Given the description of an element on the screen output the (x, y) to click on. 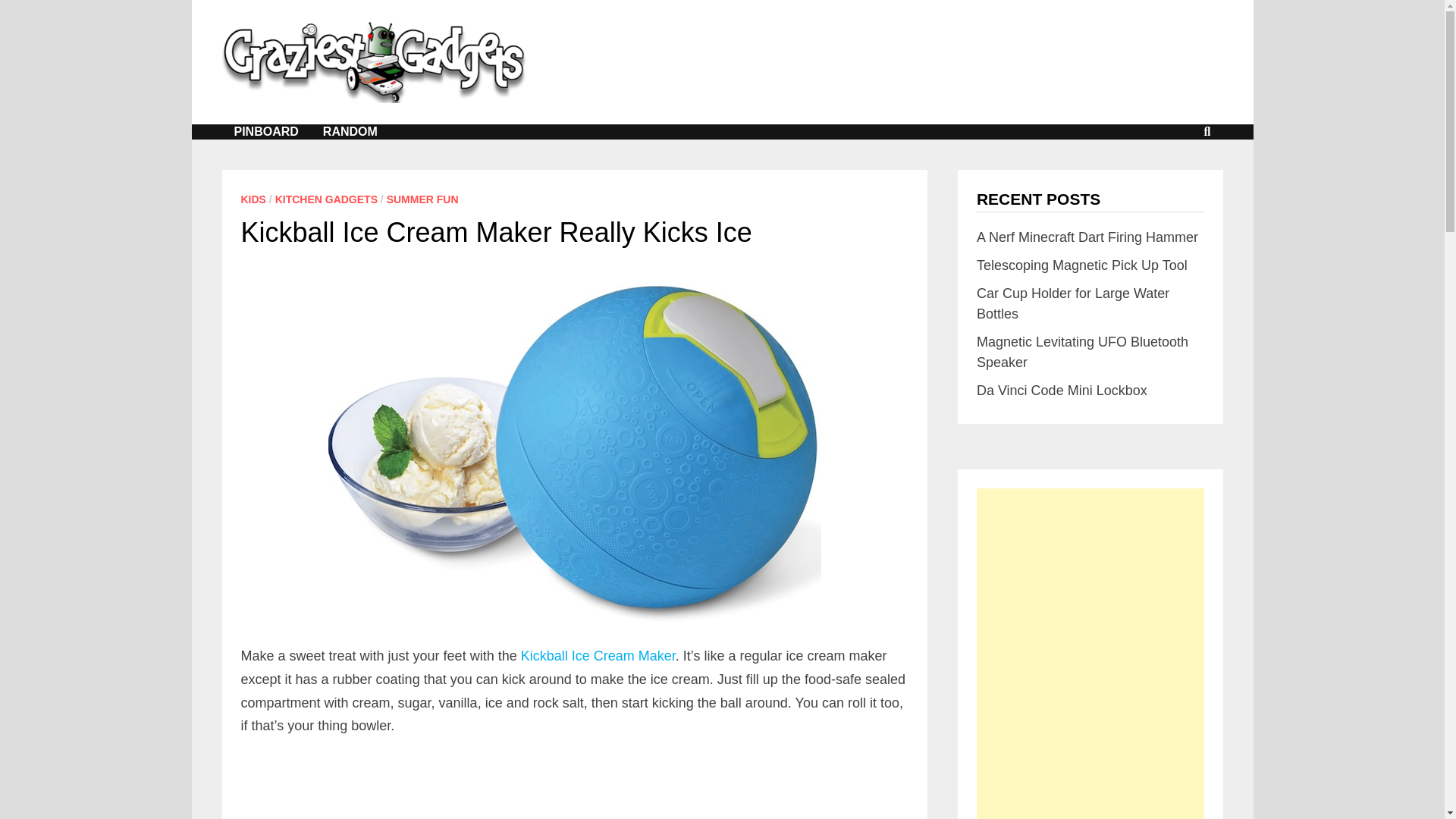
PINBOARD (265, 131)
KIDS (253, 199)
RANDOM (350, 131)
Kickball Ice Cream Maker (598, 655)
SUMMER FUN (422, 199)
KITCHEN GADGETS (326, 199)
